Given the description of an element on the screen output the (x, y) to click on. 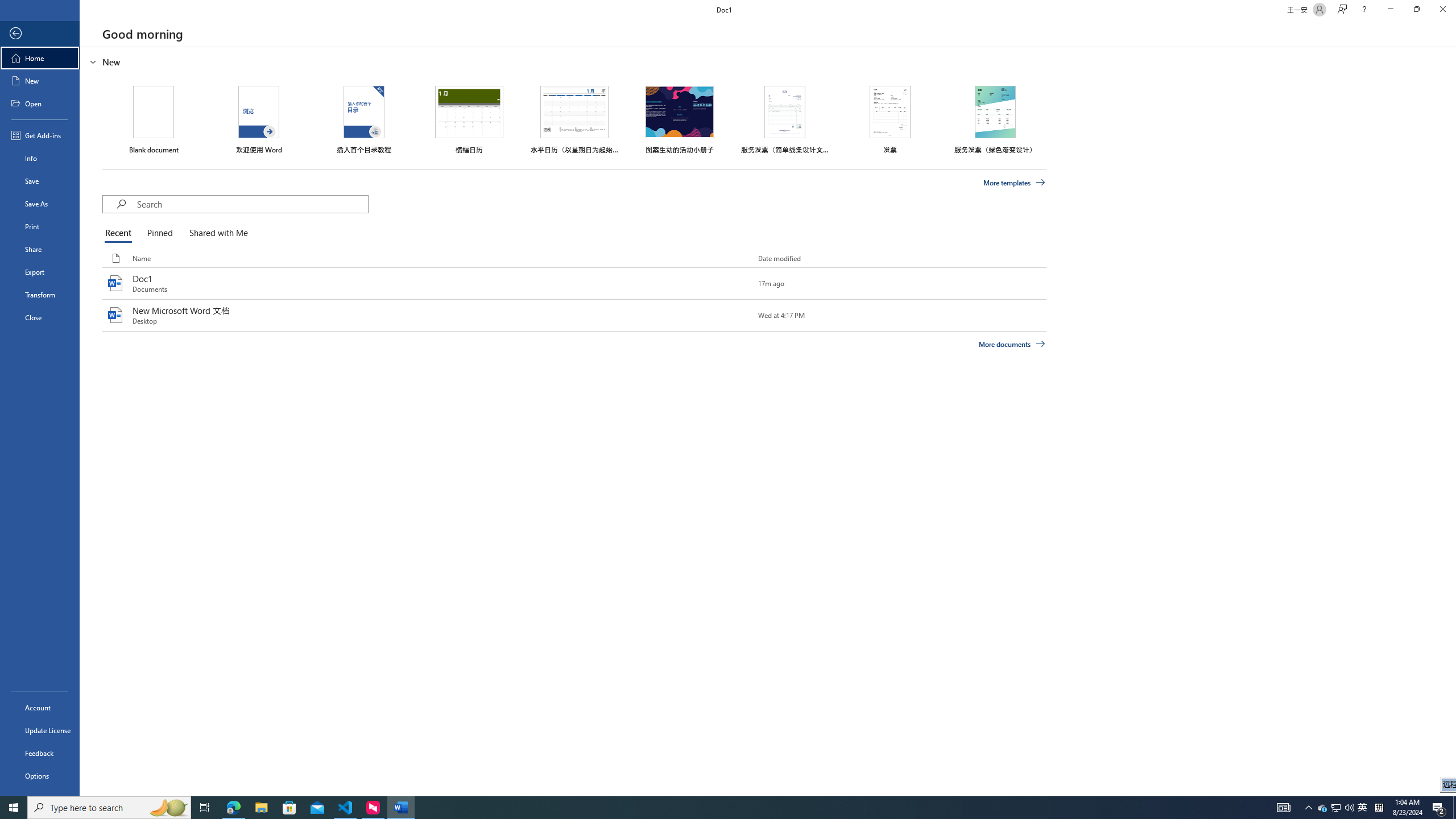
More documents (1011, 343)
Hide or show region (92, 61)
Back (40, 33)
Account (40, 707)
Info (40, 157)
Recent (119, 233)
Pin this item to the list (739, 314)
Save As (40, 203)
